Given the description of an element on the screen output the (x, y) to click on. 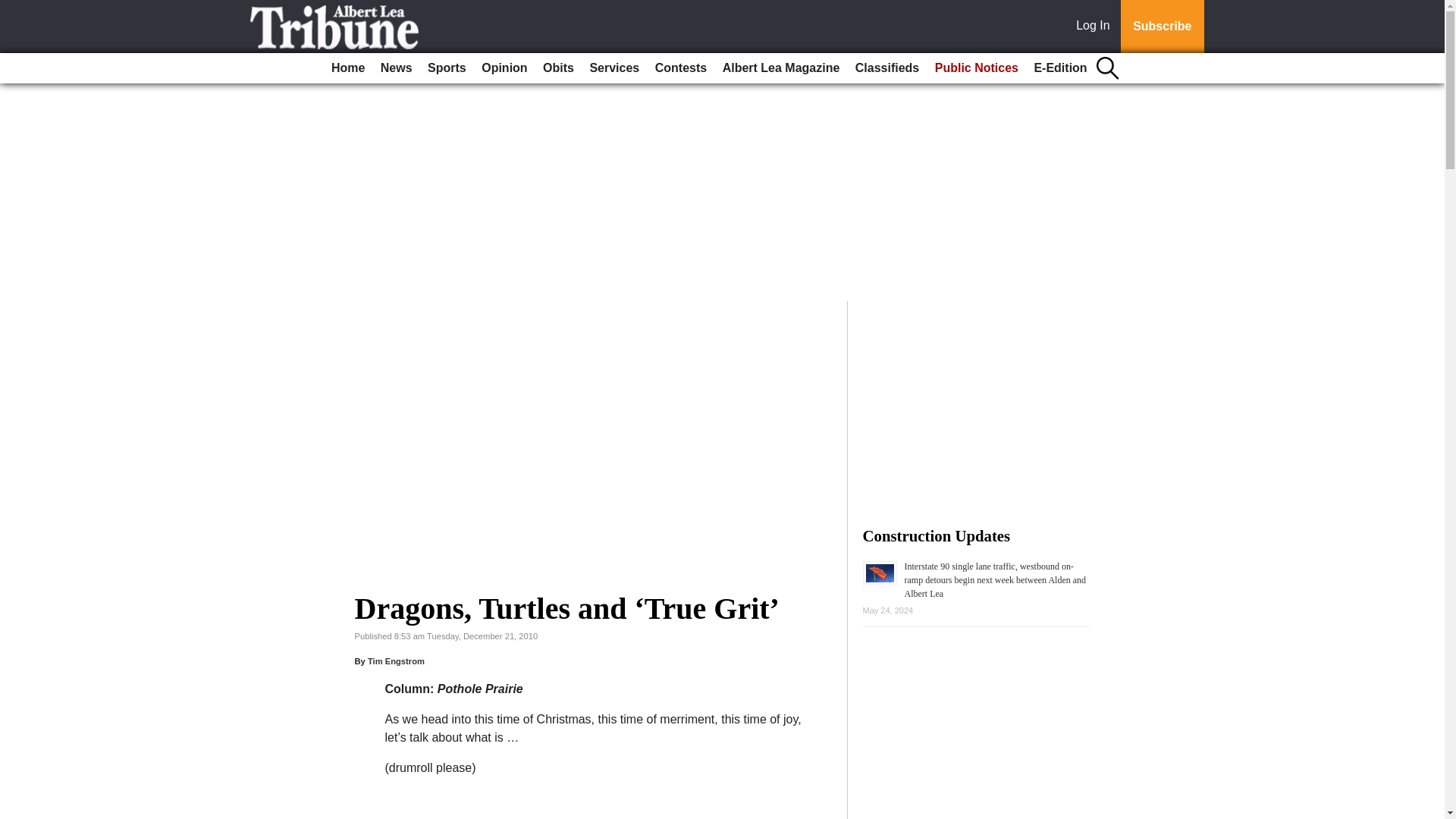
Log In (1095, 26)
Home (347, 68)
News (396, 68)
Opinion (504, 68)
Obits (558, 68)
Services (614, 68)
Sports (446, 68)
Subscribe (1162, 26)
